Given the description of an element on the screen output the (x, y) to click on. 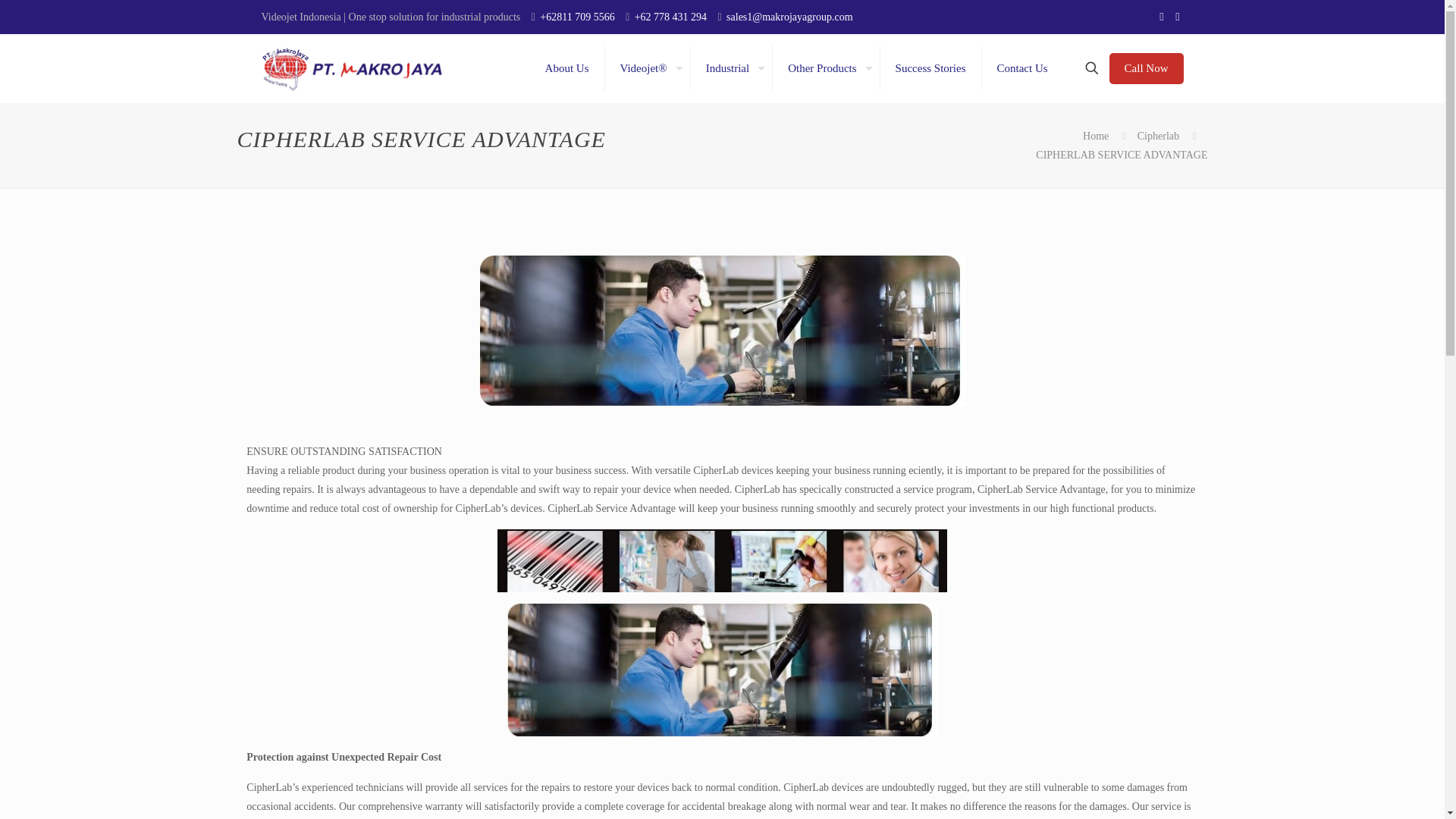
About Us (567, 68)
WhatsApp (1177, 16)
Skype (1161, 16)
